Given the description of an element on the screen output the (x, y) to click on. 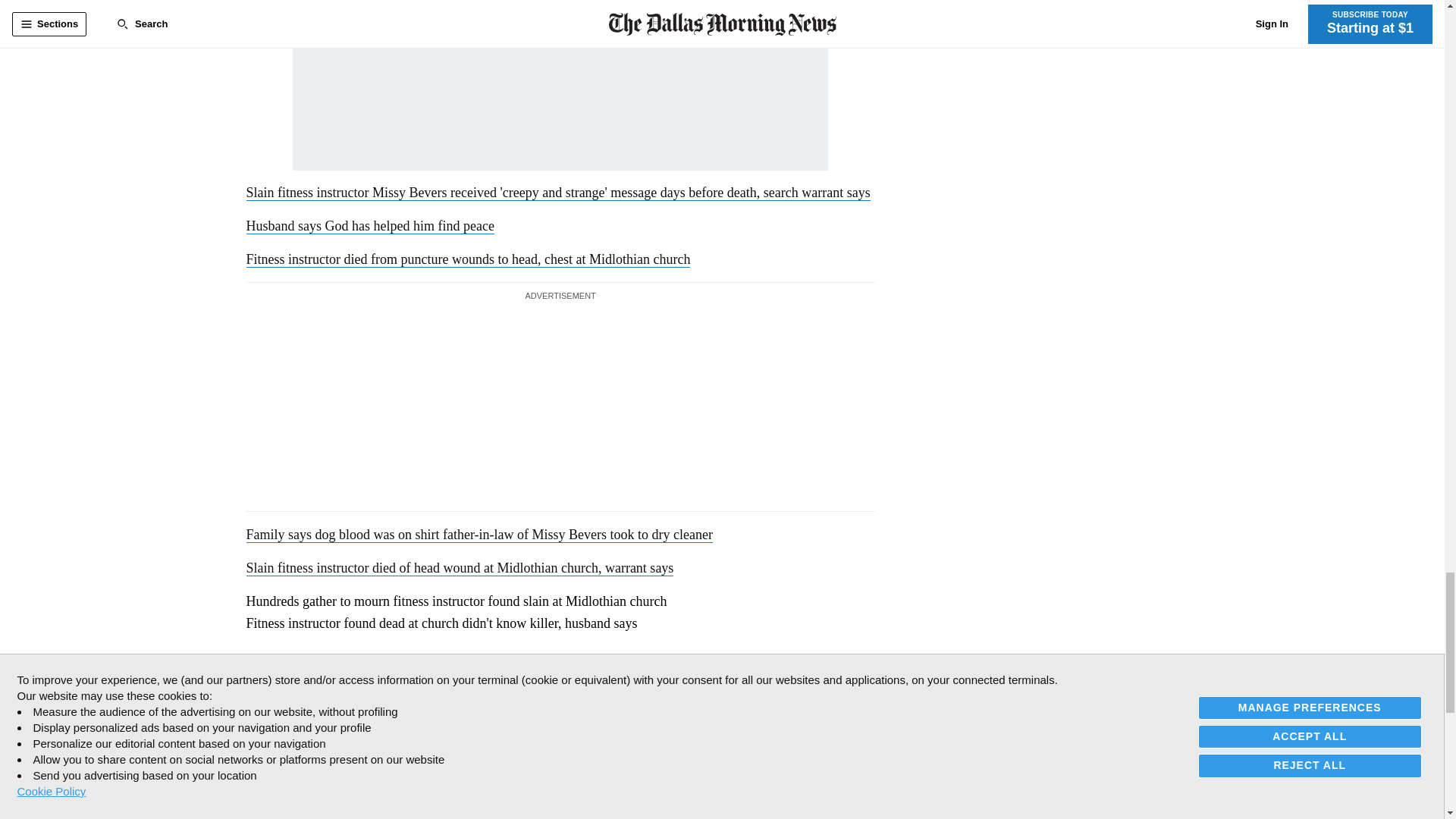
Share via Email (321, 667)
Share on Facebook (258, 667)
Share on Twitter (290, 667)
Print (353, 667)
